Given the description of an element on the screen output the (x, y) to click on. 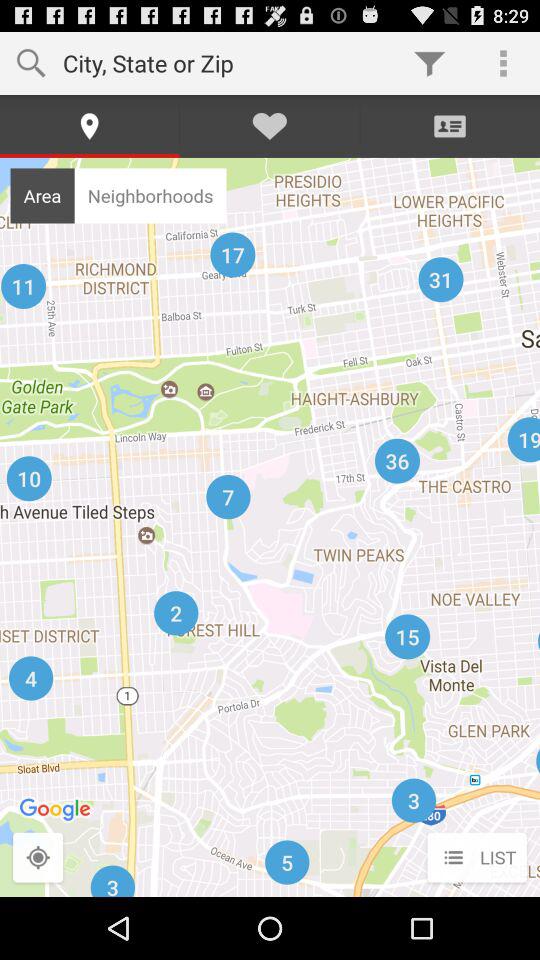
press icon to the right of area icon (150, 195)
